Given the description of an element on the screen output the (x, y) to click on. 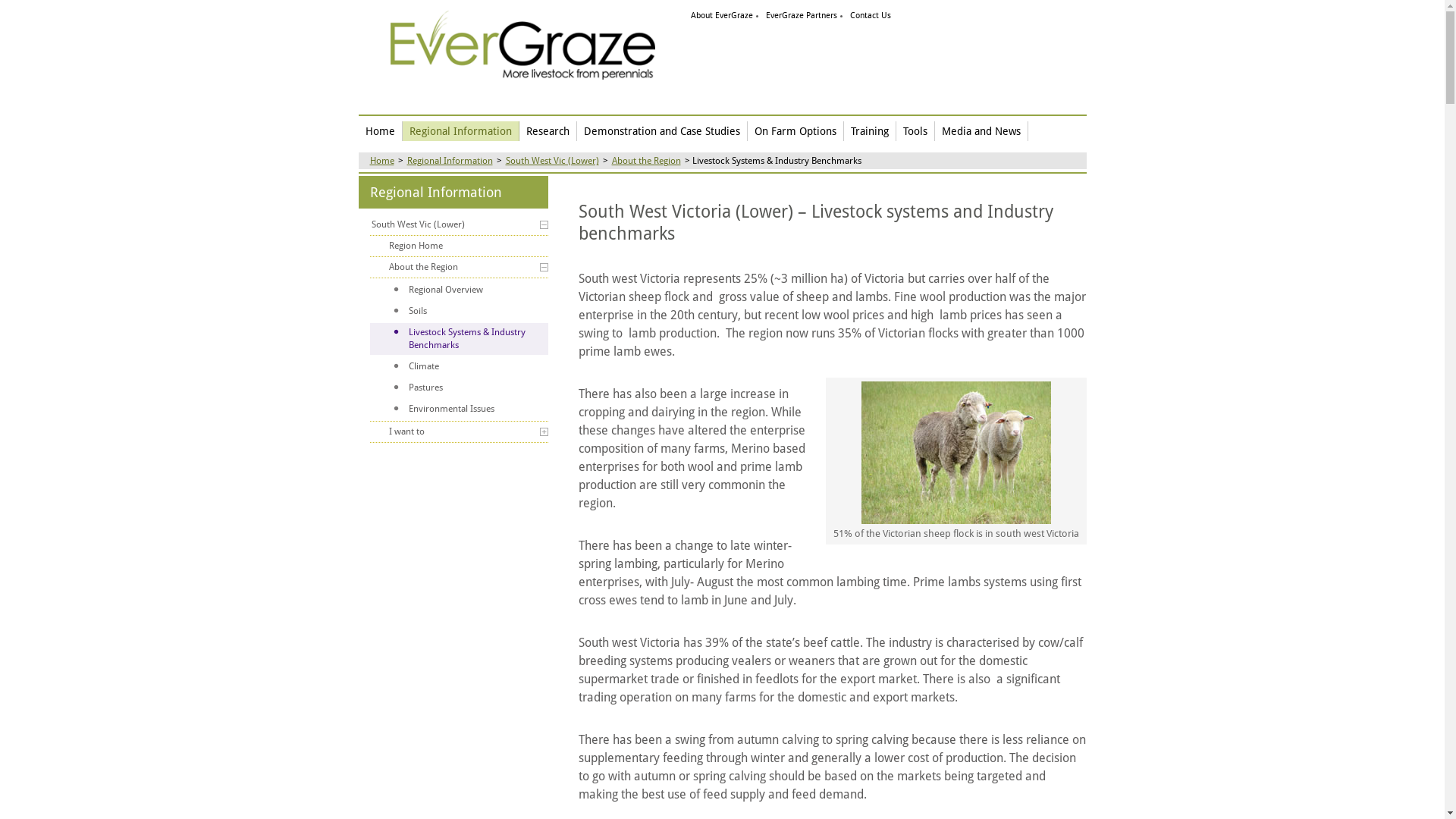
Home Element type: text (379, 131)
Media and News Element type: text (980, 131)
Contact Us Element type: text (869, 15)
About the Region Element type: text (645, 160)
Regional Information Element type: text (449, 160)
Tools Element type: text (915, 131)
Home Element type: text (382, 160)
Livestock Systems & Industry Benchmarks Element type: text (459, 338)
Environmental Issues Element type: text (459, 408)
Demonstration and Case Studies Element type: text (661, 131)
EverGraze More livestock from perennials Element type: hover (521, 44)
Soils Element type: text (459, 310)
Search Element type: text (11, 11)
On Farm Options Element type: text (795, 131)
Training Element type: text (869, 131)
South West Vic (Lower) Element type: text (551, 160)
Regional Information Element type: text (459, 131)
About EverGraze Element type: text (721, 15)
Region Home Element type: text (459, 245)
Pastures Element type: text (459, 387)
Regional Overview Element type: text (459, 289)
51% of the Victorian sheep flock is in south-west Victoria Element type: hover (956, 452)
About the Region Element type: text (459, 266)
Climate Element type: text (459, 366)
South West Vic (Lower) Element type: text (459, 224)
EverGraze Partners Element type: text (801, 15)
I want to Element type: text (459, 431)
Research Element type: text (547, 131)
